Given the description of an element on the screen output the (x, y) to click on. 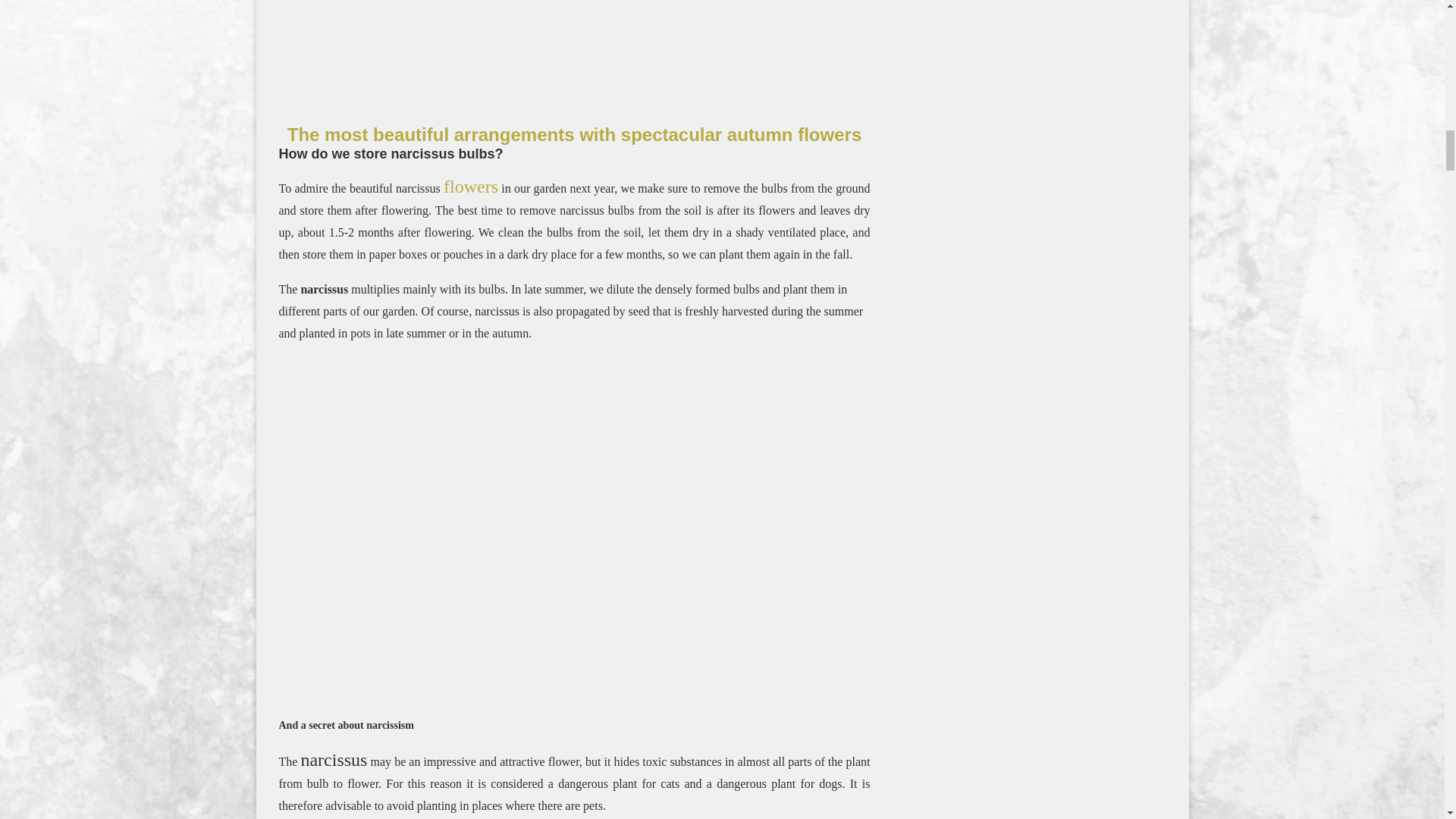
flowers (470, 187)
